Given the description of an element on the screen output the (x, y) to click on. 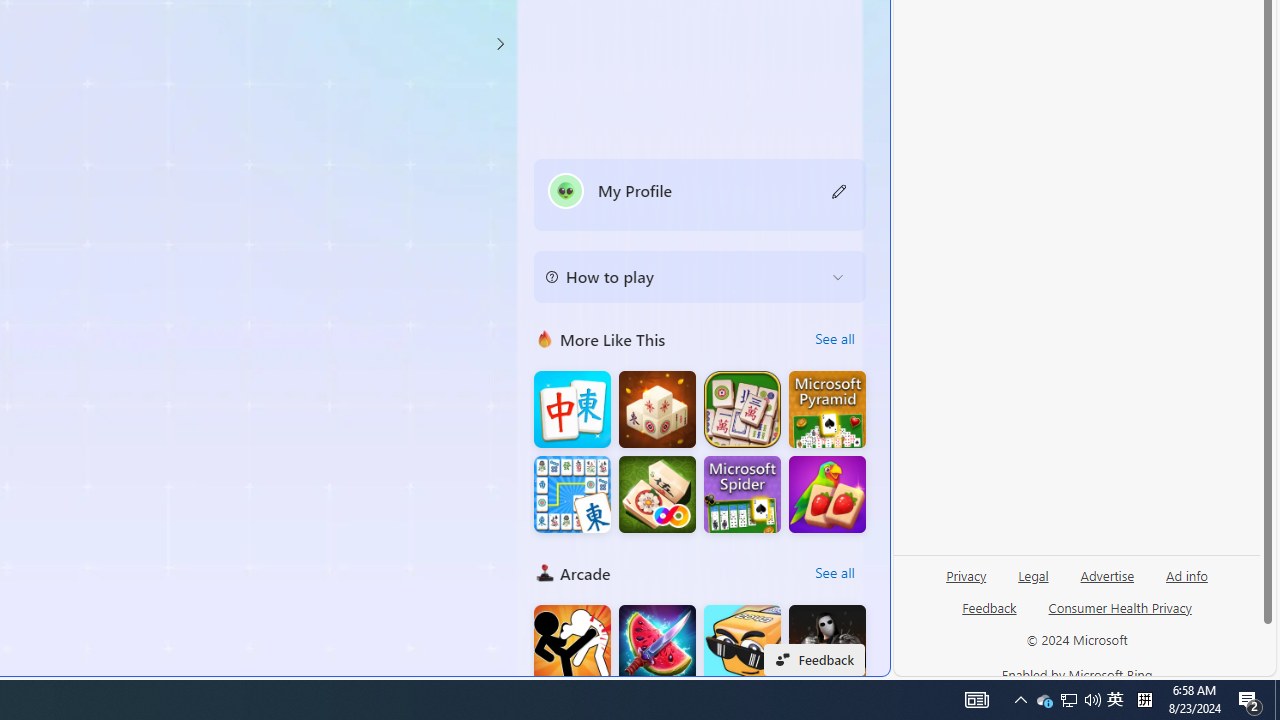
See all (834, 572)
""'s avatar (565, 190)
Mahjong Big (571, 409)
